Given the description of an element on the screen output the (x, y) to click on. 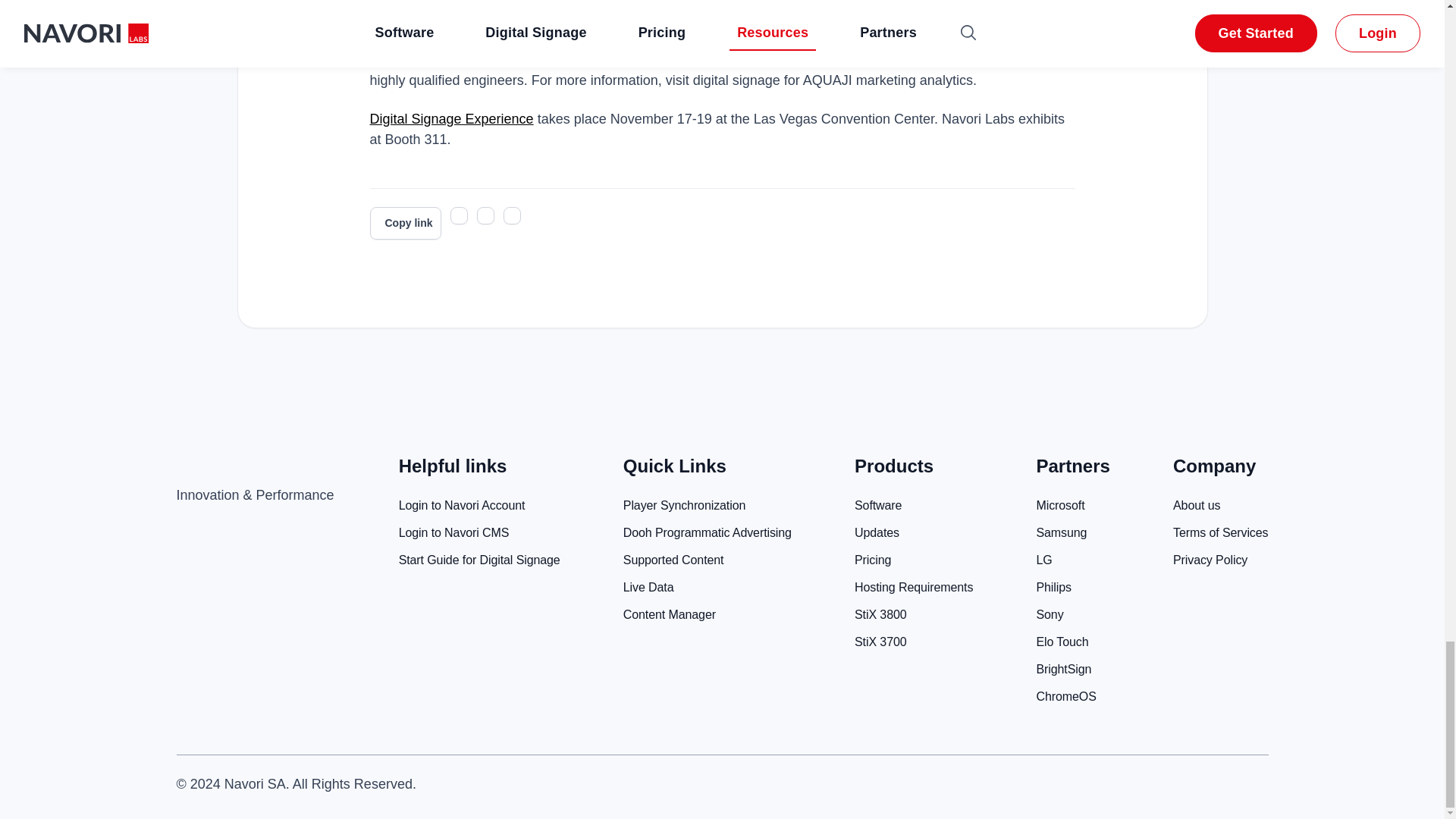
share page on linkedin (512, 215)
copy page url (405, 223)
share page on twitter (458, 215)
share page on facebook (486, 215)
